Given the description of an element on the screen output the (x, y) to click on. 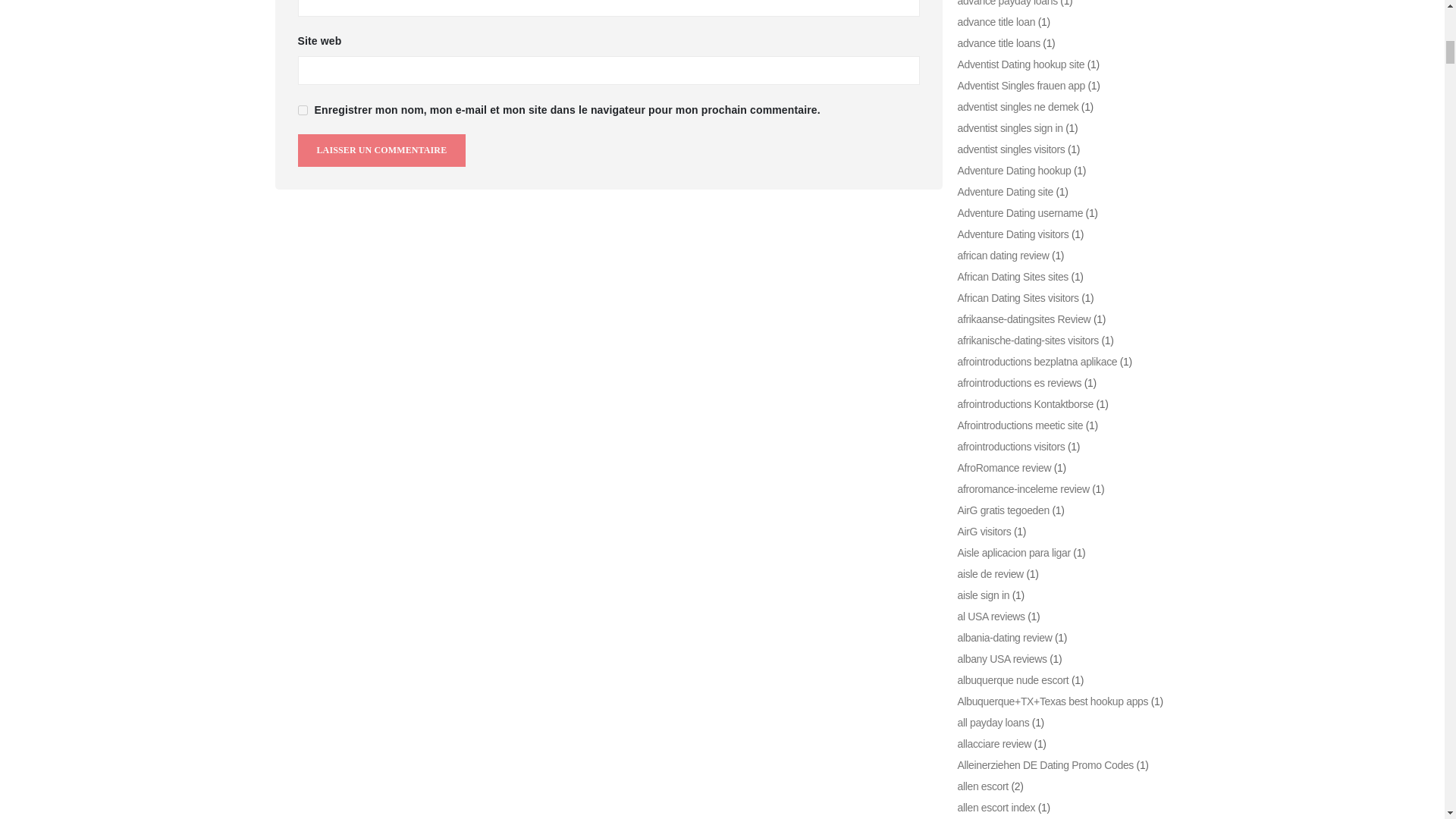
yes (302, 109)
Laisser un commentaire (381, 150)
Laisser un commentaire (381, 150)
